Given the description of an element on the screen output the (x, y) to click on. 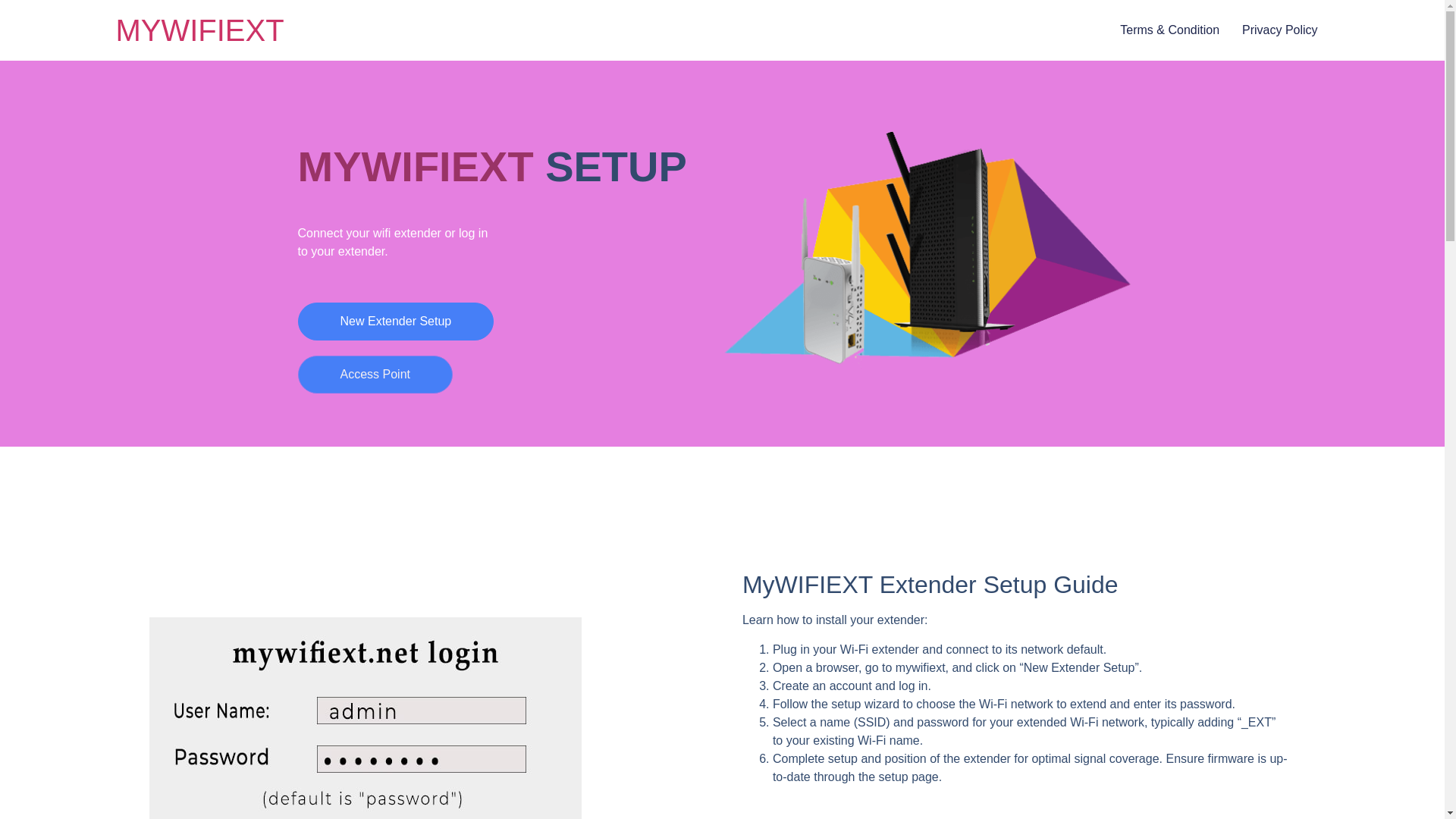
Home (199, 29)
MYWIFIEXT (199, 29)
Privacy Policy (1279, 30)
Access Point (374, 374)
New Extender Setup (395, 321)
